Given the description of an element on the screen output the (x, y) to click on. 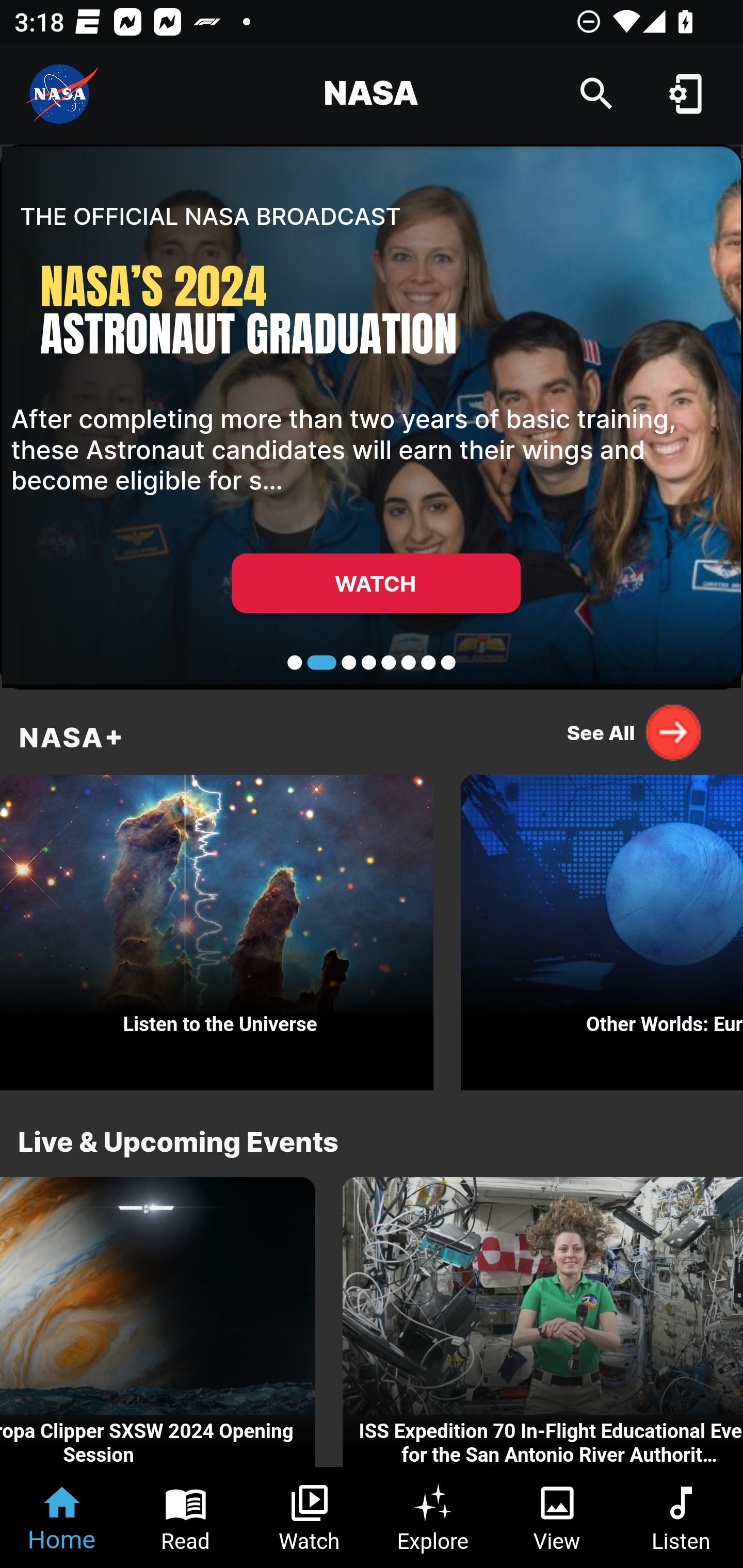
WATCH (375, 583)
See All (634, 732)
Listen to the Universe (216, 927)
Other Worlds: Europa (601, 927)
NASA's Europa Clipper SXSW 2024 Opening Session (157, 1322)
Home
Tab 1 of 6 (62, 1517)
Read
Tab 2 of 6 (185, 1517)
Watch
Tab 3 of 6 (309, 1517)
Explore
Tab 4 of 6 (433, 1517)
View
Tab 5 of 6 (556, 1517)
Listen
Tab 6 of 6 (680, 1517)
